Given the description of an element on the screen output the (x, y) to click on. 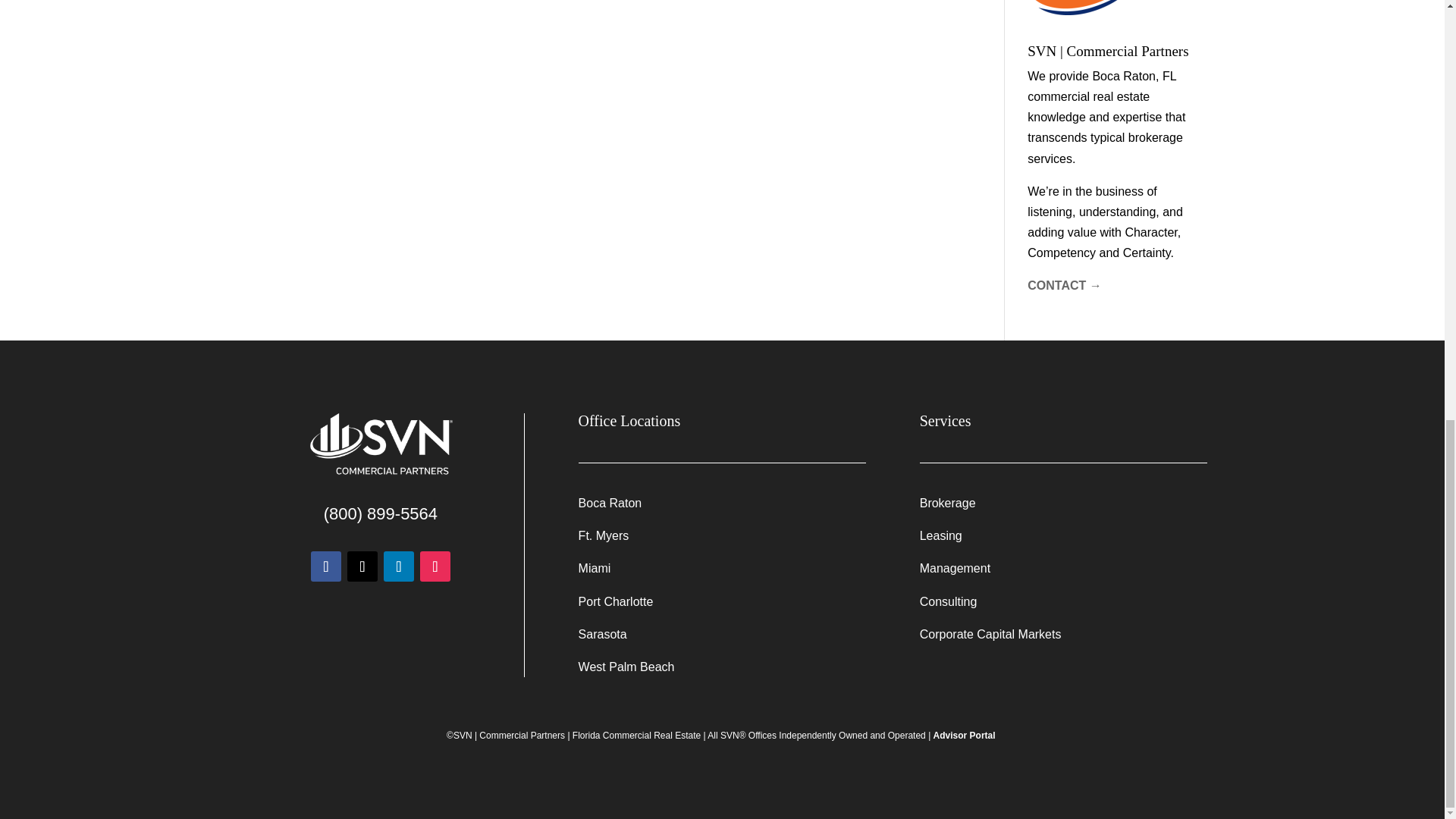
Follow on X (362, 566)
Follow on Instagram (434, 566)
Follow on Facebook (325, 566)
SVN Commercial Partners White Logo png (379, 445)
Follow on LinkedIn (398, 566)
